Given the description of an element on the screen output the (x, y) to click on. 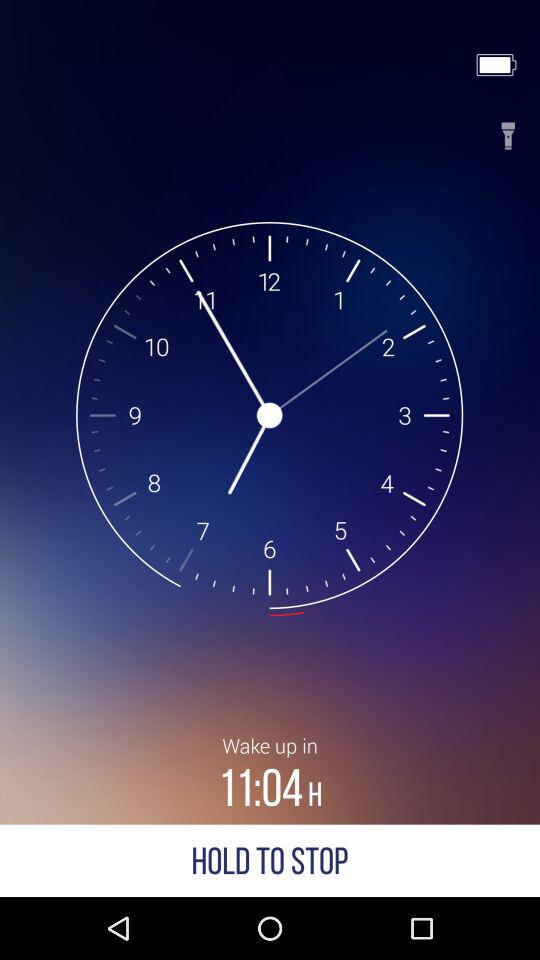
light symbol (508, 129)
